Given the description of an element on the screen output the (x, y) to click on. 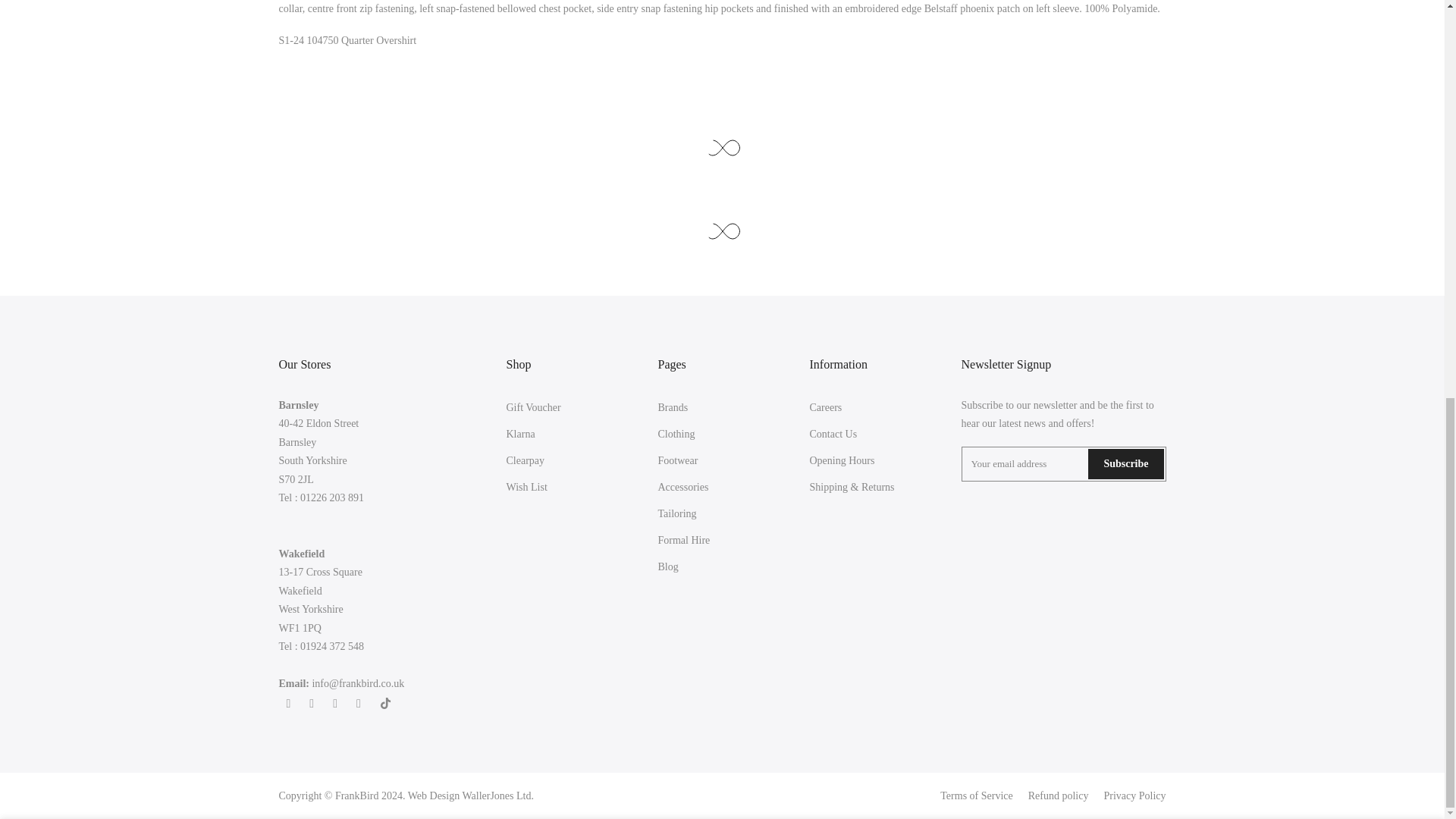
1 (1001, 80)
